Given the description of an element on the screen output the (x, y) to click on. 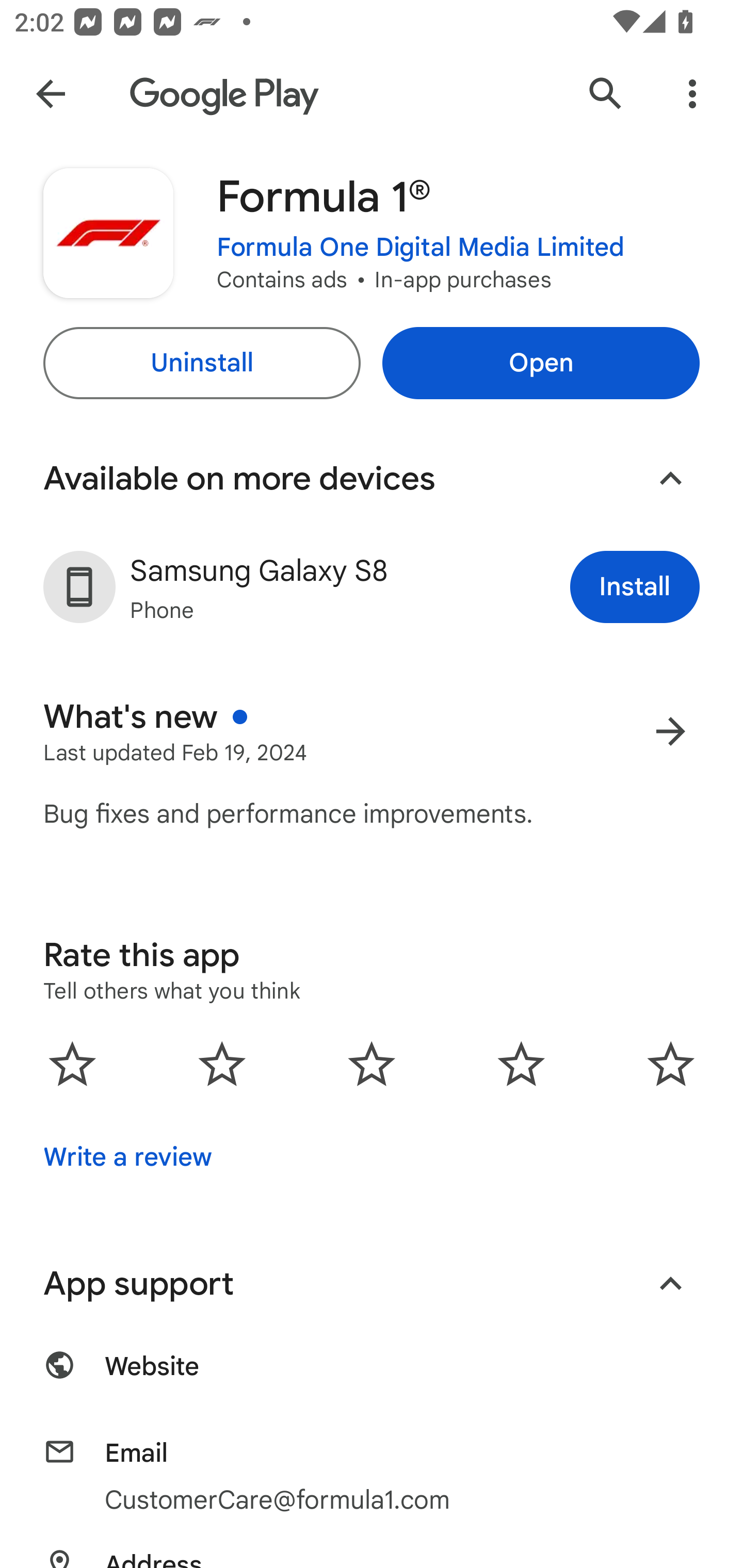
Navigate up (50, 93)
Search Google Play (605, 93)
More Options (692, 93)
Formula One Digital Media Limited (420, 247)
Uninstall (201, 362)
Open (540, 362)
Available on more devices Collapse (371, 478)
Collapse (670, 478)
Install (634, 587)
More results for What's new (670, 731)
0.0 (371, 1063)
Write a review (127, 1157)
App support Collapse (371, 1284)
Collapse (670, 1283)
Website (371, 1377)
Email CustomerCare@formula1.com (371, 1476)
